Given the description of an element on the screen output the (x, y) to click on. 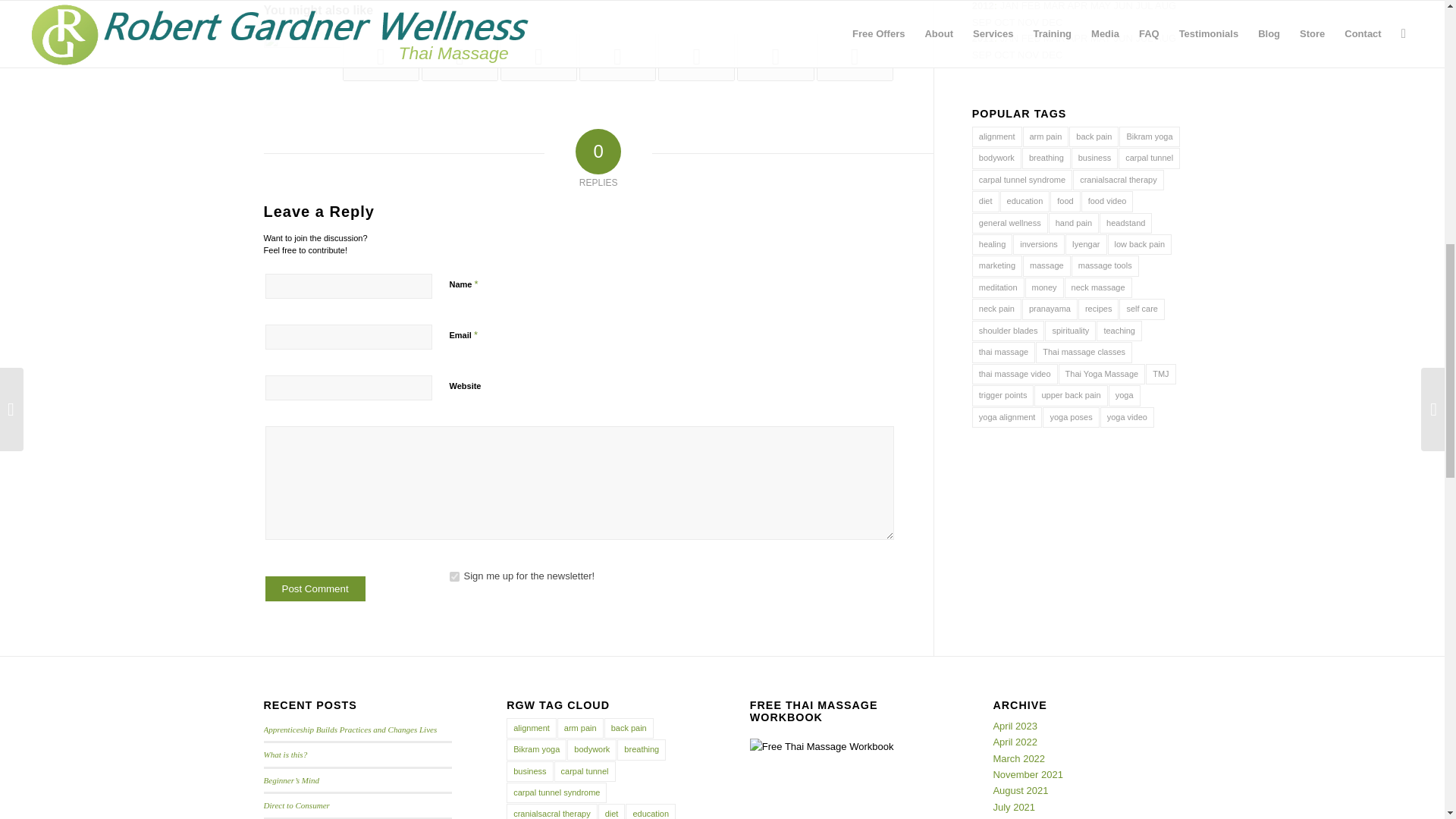
Fat girls yoga pt.1 (538, 56)
Bikram yoga and Thai massage (459, 56)
Post Comment (314, 588)
Why Study Thai Massage with Robert Gardner? (301, 56)
1 (453, 576)
13 pt.5 (380, 56)
